Given the description of an element on the screen output the (x, y) to click on. 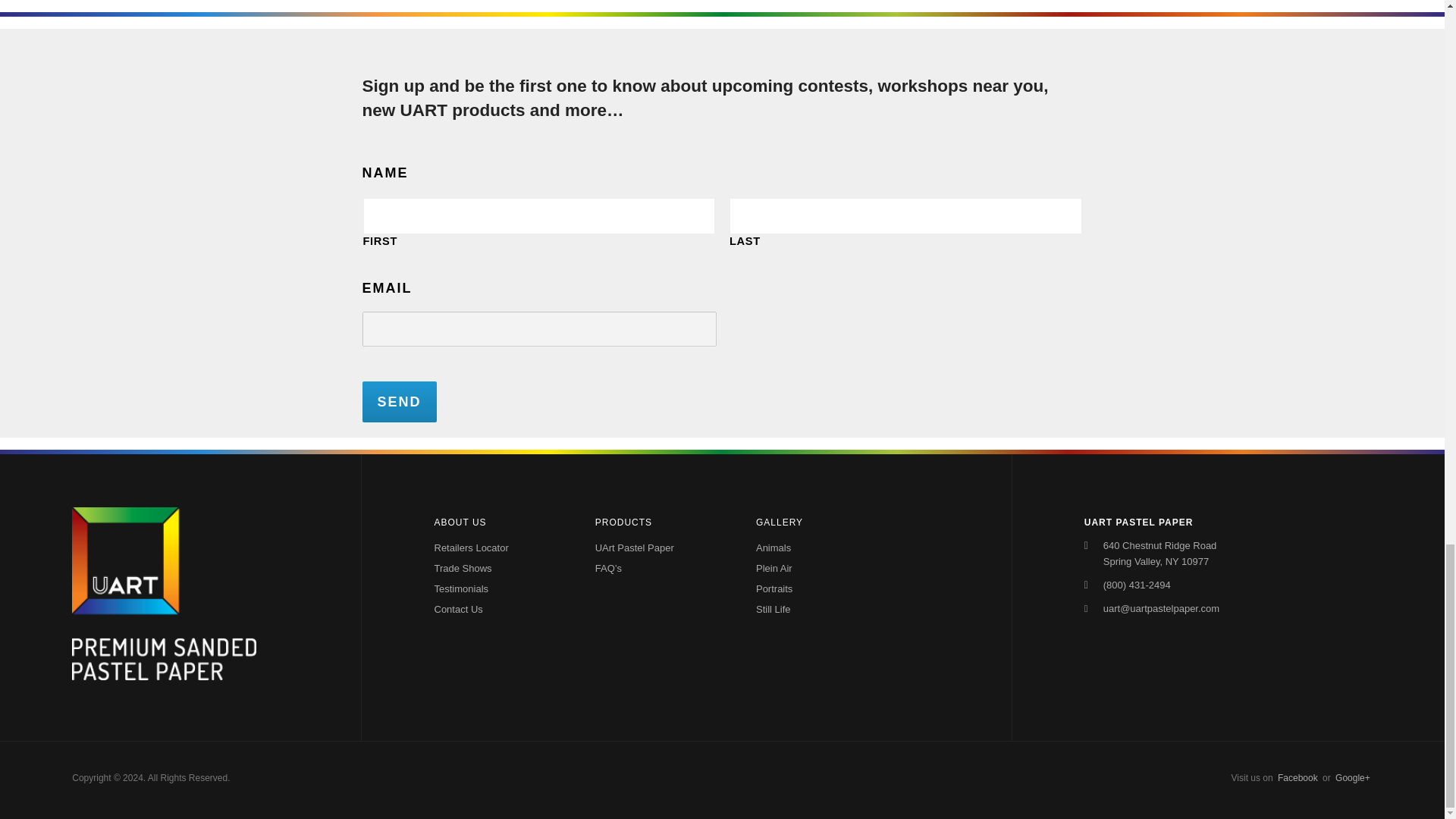
Retailers Locator (496, 547)
Plein Air (811, 567)
Contact Us (496, 608)
UArt Pastel Paper (636, 547)
Animals (811, 547)
PRODUCTS (657, 521)
Send (399, 401)
GALLERY (818, 521)
Testimonials (496, 588)
Trade Shows (496, 567)
Send (399, 401)
ABOUT US (496, 521)
UART Premium Sanded Pastel Paper (163, 675)
